Given the description of an element on the screen output the (x, y) to click on. 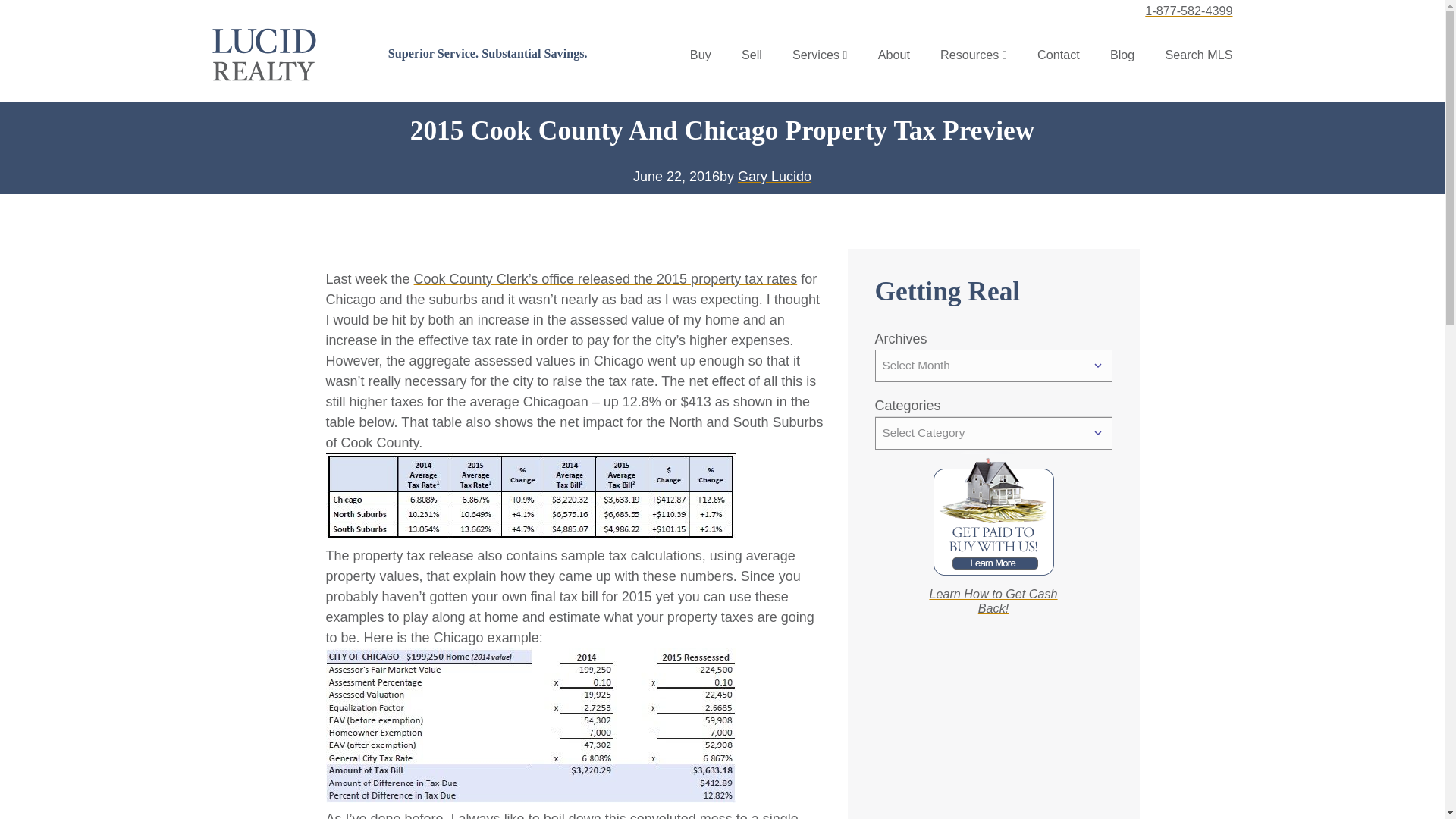
Buy (700, 54)
Sell (751, 54)
Services (816, 54)
Search MLS (1197, 54)
Resources (969, 54)
Contact (1058, 54)
Blog (1121, 54)
Chicago property tax calculation example (530, 725)
About (893, 54)
1-877-582-4399 (1187, 10)
2015 Cook County property tax changes (530, 496)
Learn How to Get Cash Back! (992, 601)
Gary Lucido (774, 176)
Cook county property tax rates released (605, 278)
